Given the description of an element on the screen output the (x, y) to click on. 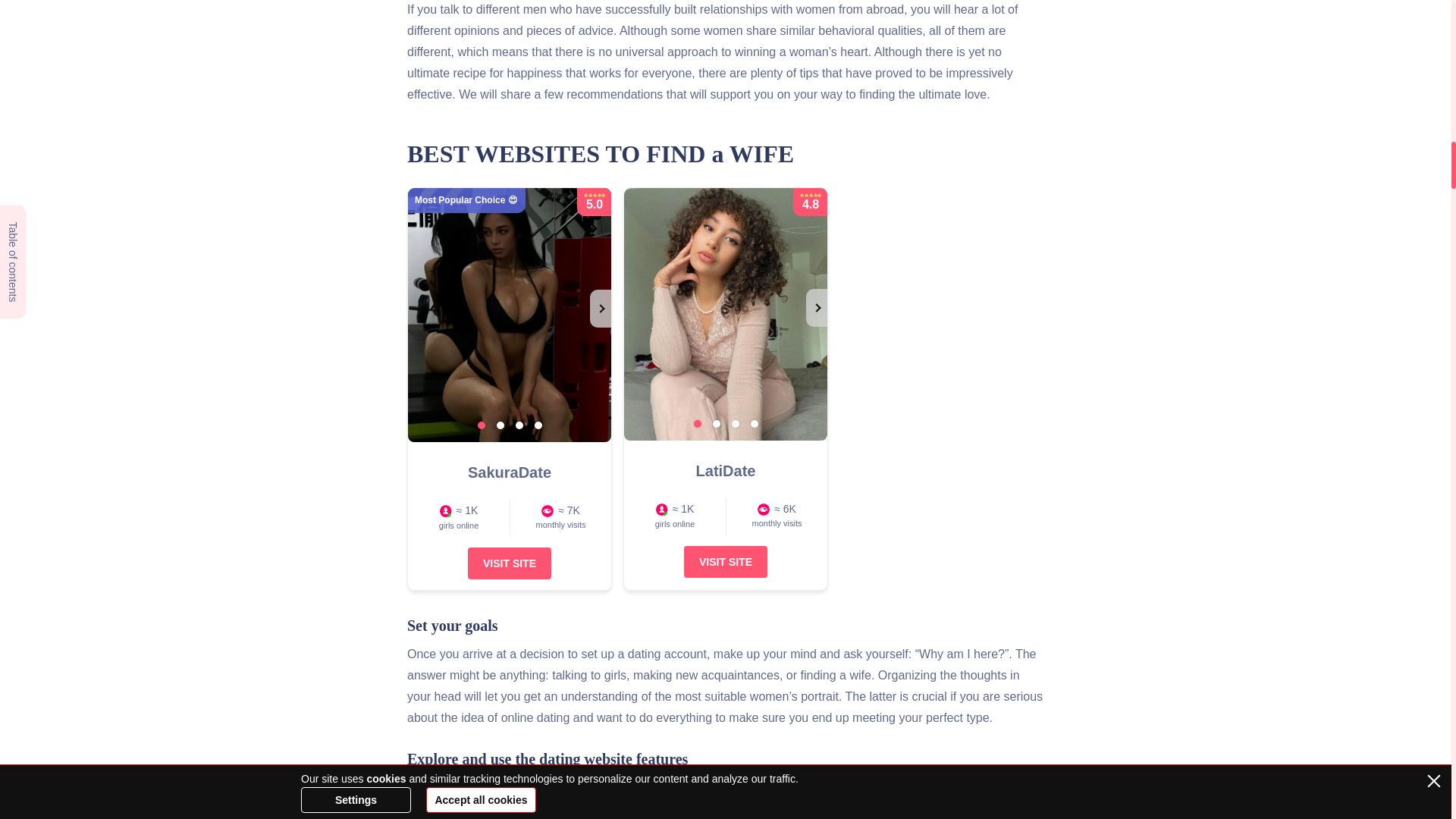
Our Score (594, 194)
Our Score (810, 194)
